Given the description of an element on the screen output the (x, y) to click on. 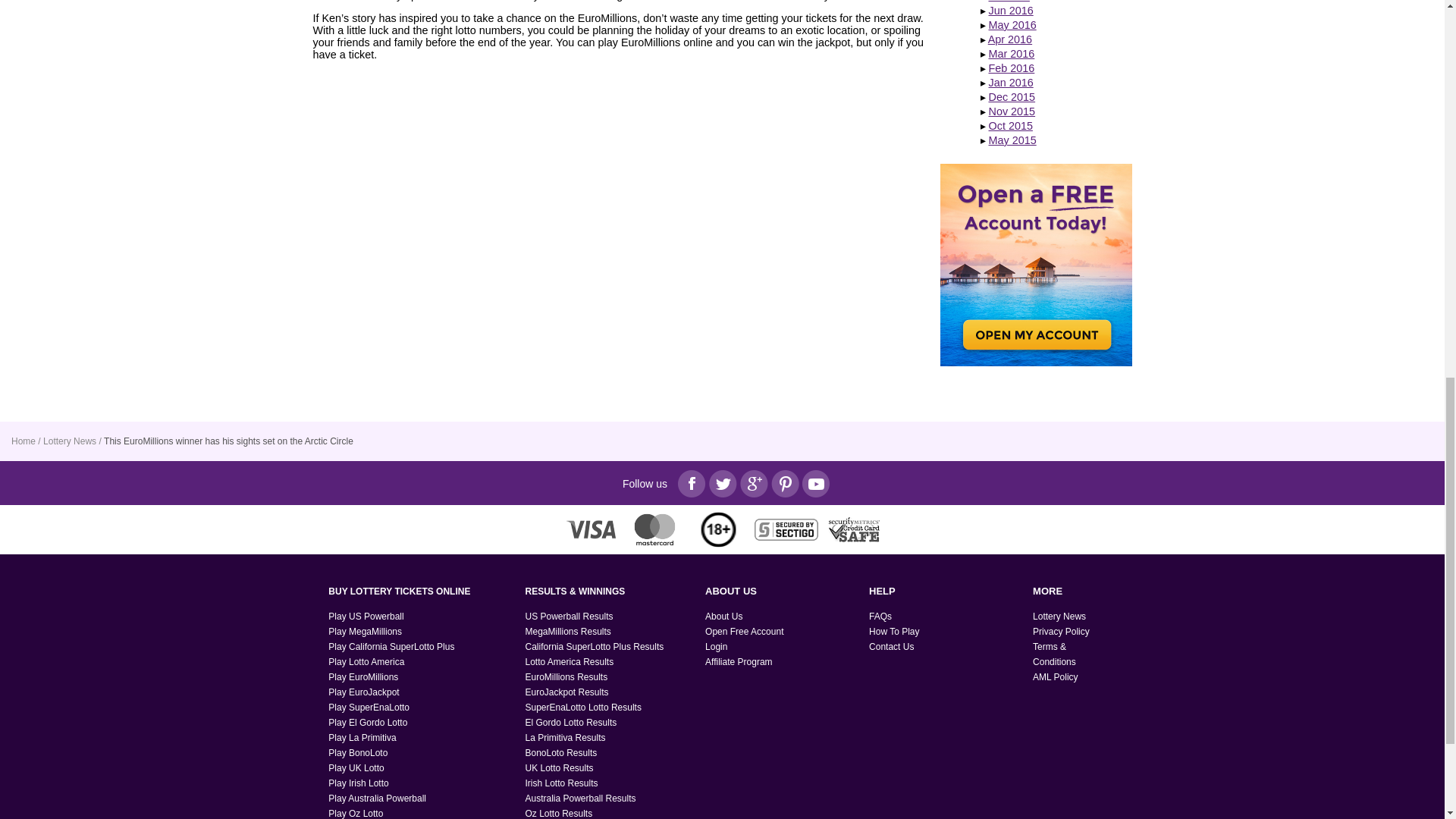
Buy Irish Lotto tickets online (358, 783)
Buy SuperEnaLotto tickets online (362, 737)
Buy Lotto America tickets online (366, 661)
Buy US Powerball tickets online (366, 615)
Buy Euromillions tickets online (363, 676)
Buy SuperEnaLotto tickets online (369, 706)
Buy SuperEnaLotto tickets online (358, 752)
Buy EuroJackpot tickets online (363, 692)
Buy California SuperLotto Plus tickets online (391, 646)
Buy Australia Powerball tickets online (377, 798)
Buy Oz Lotto tickets online (355, 813)
Buy Megamillions tickets online (365, 631)
Buy SuperEnaLotto tickets online (368, 722)
Buy UK Lotto tickets online (356, 767)
